Given the description of an element on the screen output the (x, y) to click on. 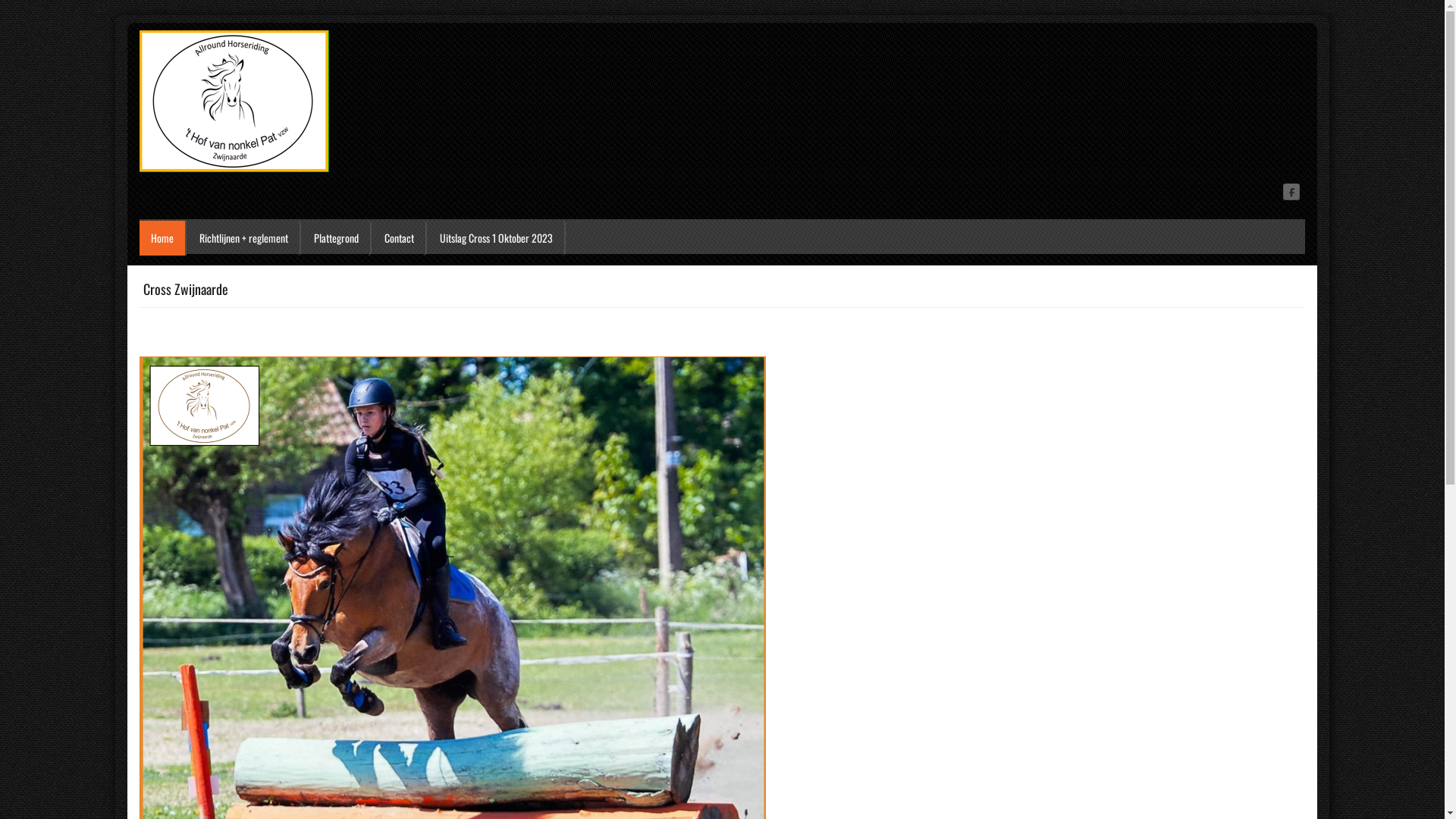
Facebook Element type: hover (1291, 191)
Uitslag Cross 1 Oktober 2023 Element type: text (496, 237)
Contact Element type: text (399, 237)
Home Element type: text (162, 237)
Plattegrond Element type: text (336, 237)
Richtlijnen + reglement Element type: text (244, 237)
